Given the description of an element on the screen output the (x, y) to click on. 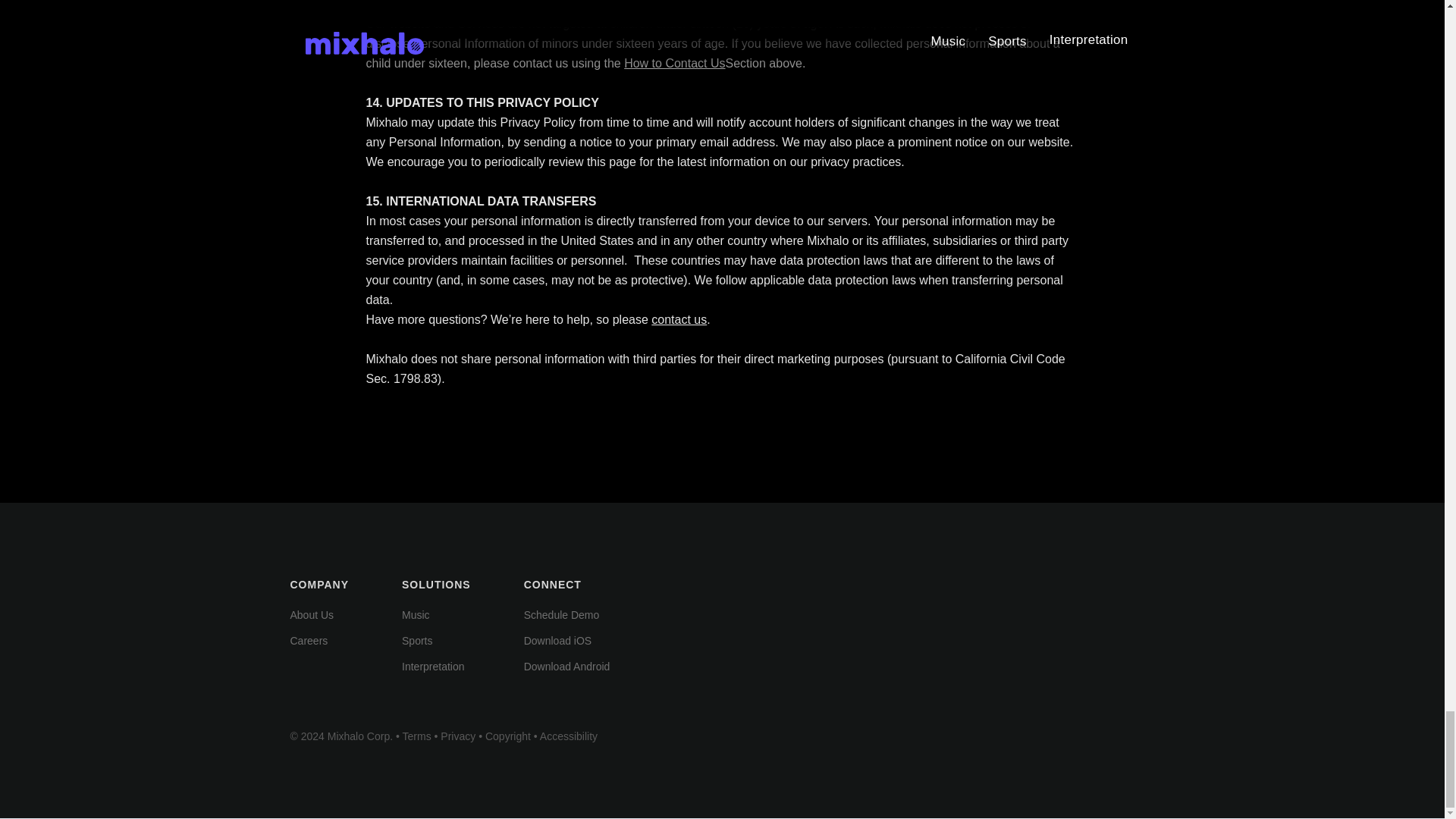
About Us (311, 614)
How to Contact Us (674, 62)
Sports (416, 640)
contact us (678, 318)
Careers (308, 640)
Schedule Demo (561, 614)
Copyright (507, 736)
Terms (416, 736)
Music (415, 614)
Accessibility (568, 736)
Privacy (458, 736)
Download iOS (558, 640)
Download Android (567, 666)
Interpretation (432, 666)
